Given the description of an element on the screen output the (x, y) to click on. 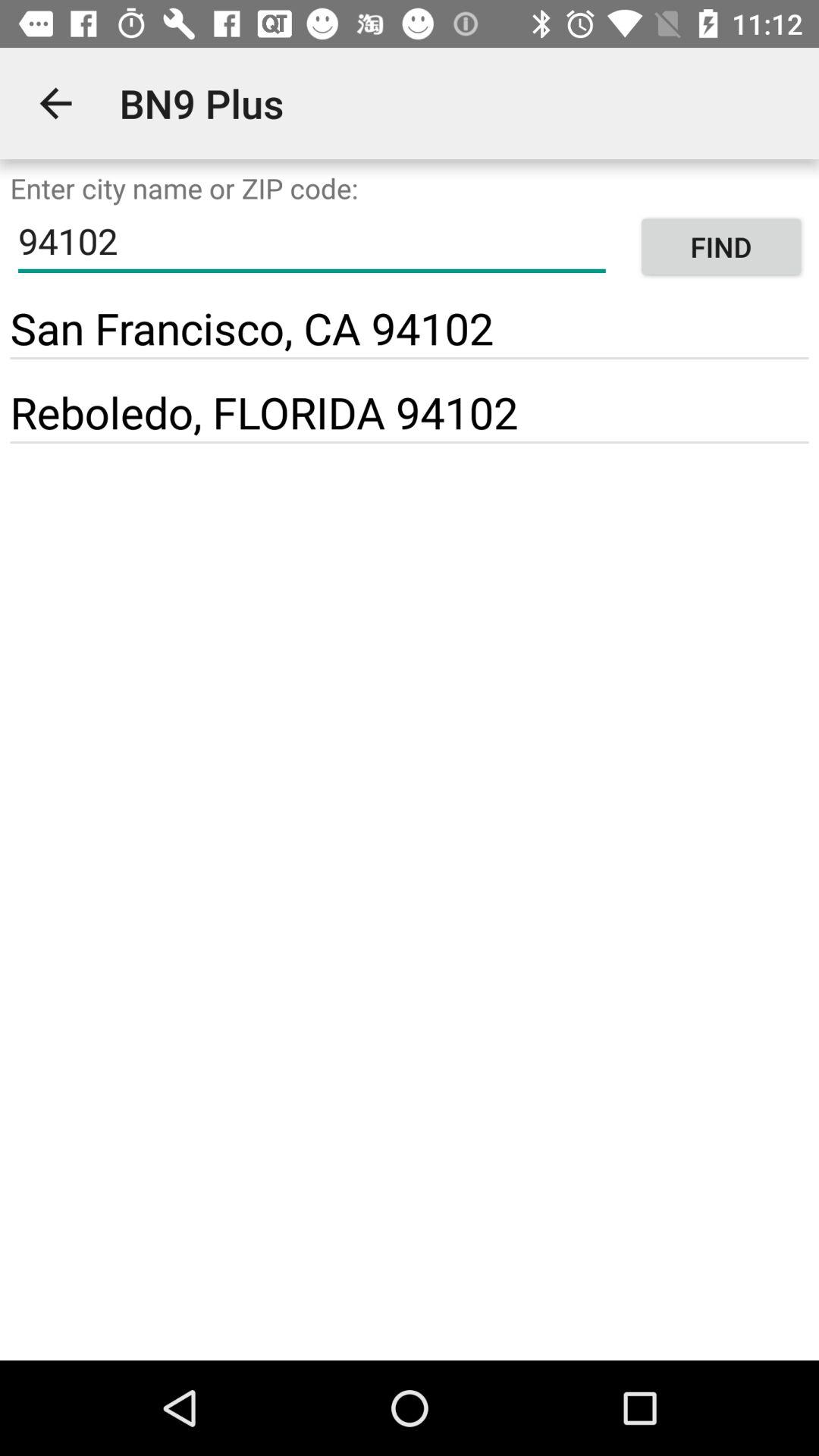
choose the icon below the enter city name icon (720, 246)
